Given the description of an element on the screen output the (x, y) to click on. 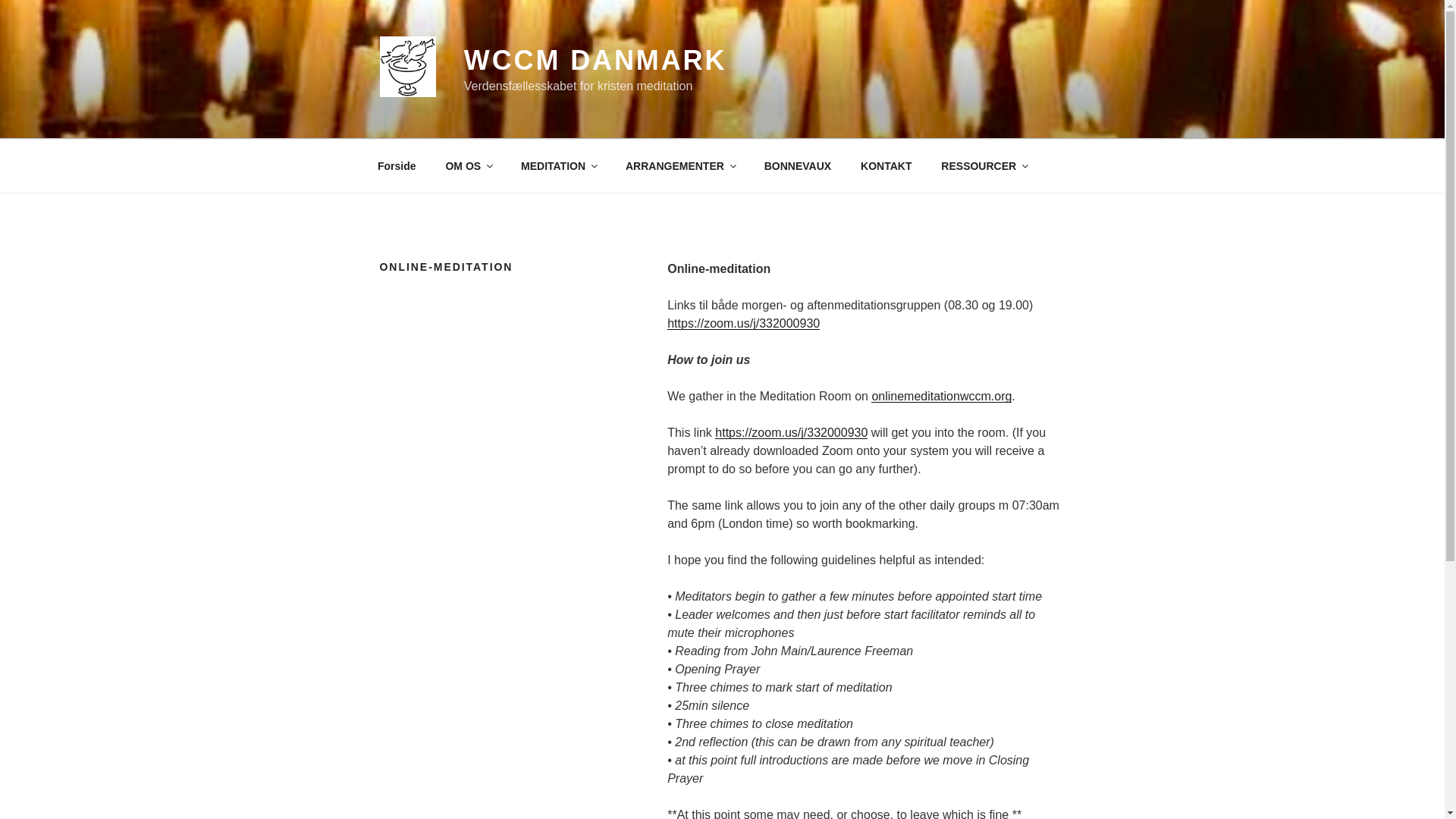
KONTAKT (885, 165)
BONNEVAUX (797, 165)
ARRANGEMENTER (679, 165)
MEDITATION (559, 165)
OM OS (468, 165)
Forside (396, 165)
WCCM DANMARK (595, 60)
RESSOURCER (984, 165)
